Given the description of an element on the screen output the (x, y) to click on. 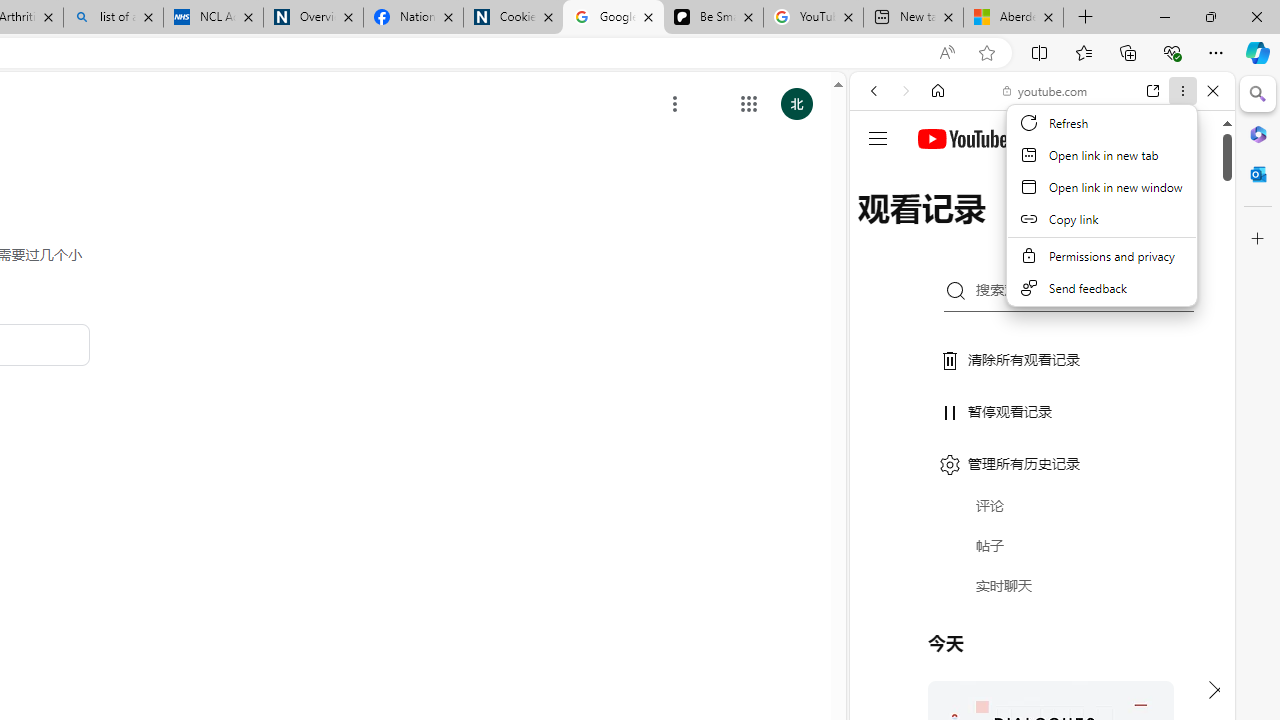
WEB   (882, 228)
Trailer #2 [HD] (1042, 592)
Search Filter, VIDEOS (1006, 228)
youtube.com (1046, 90)
Search Filter, Search Tools (1093, 228)
